Given the description of an element on the screen output the (x, y) to click on. 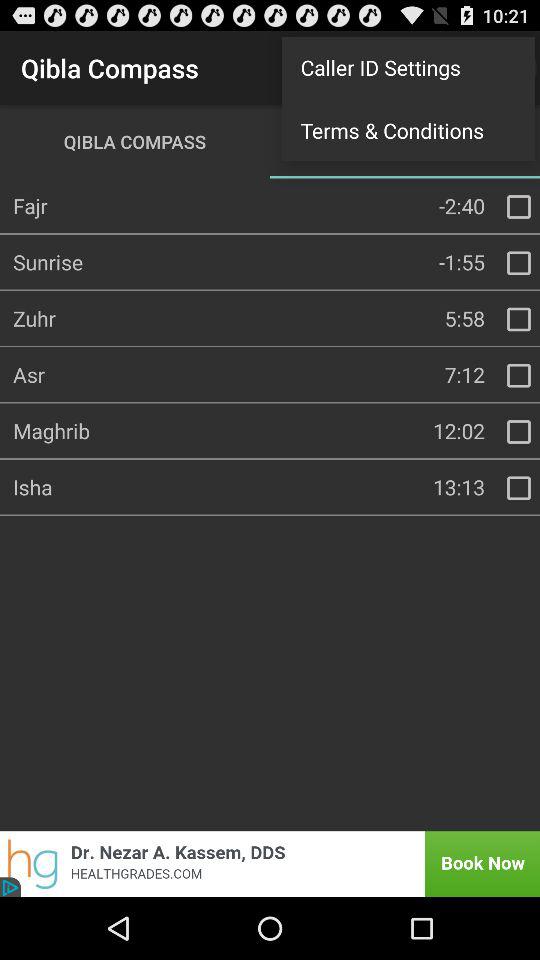
check to obtain information about isha (519, 488)
